Given the description of an element on the screen output the (x, y) to click on. 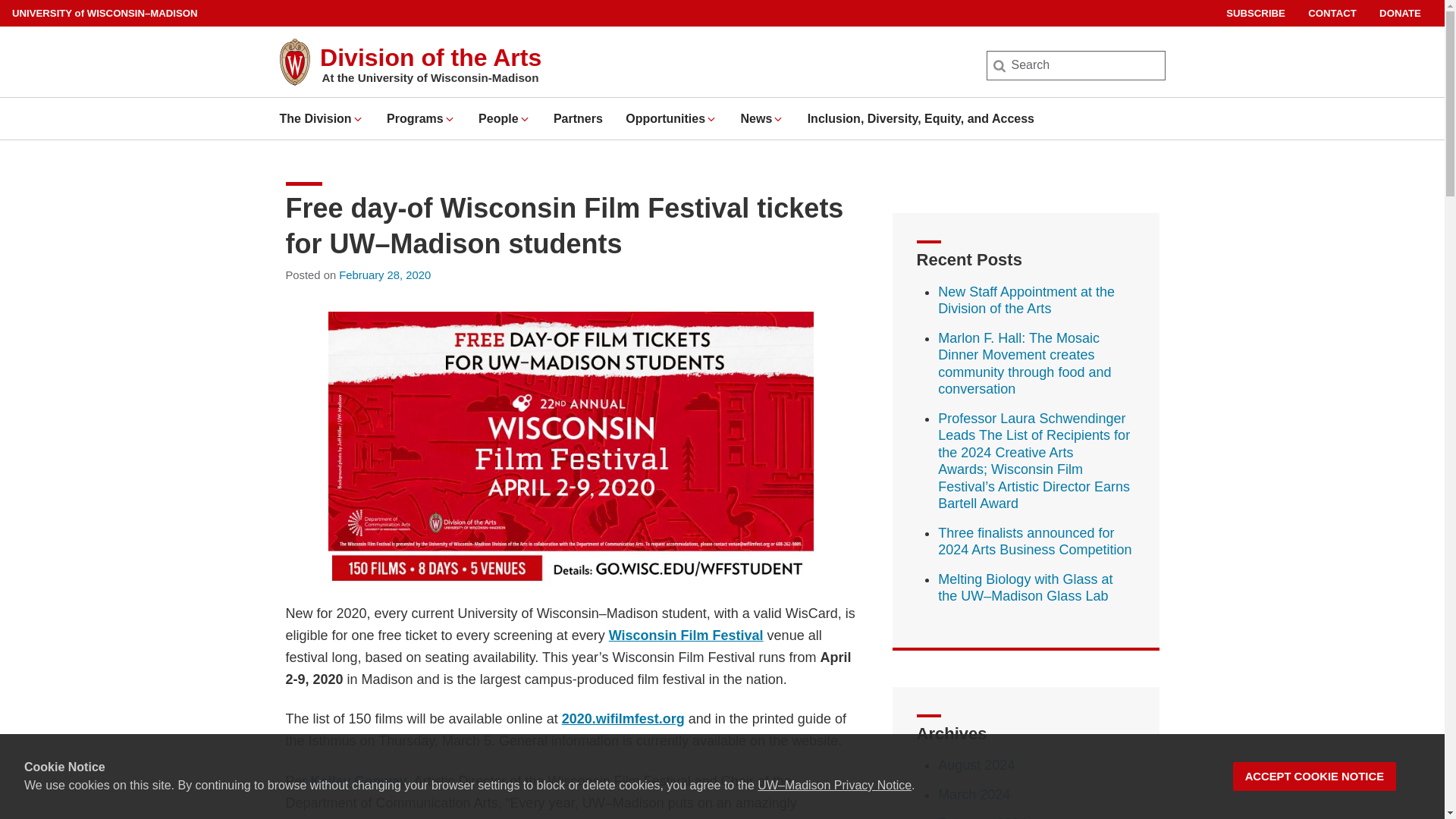
Expand (358, 119)
Expand (777, 119)
Expand (449, 119)
ACCEPT COOKIE NOTICE (1314, 776)
SUBSCRIBE (1255, 13)
Search (37, 16)
News Expand (761, 118)
February 28, 2020 (384, 275)
Expand (710, 119)
CONTACT (1331, 13)
